Given the description of an element on the screen output the (x, y) to click on. 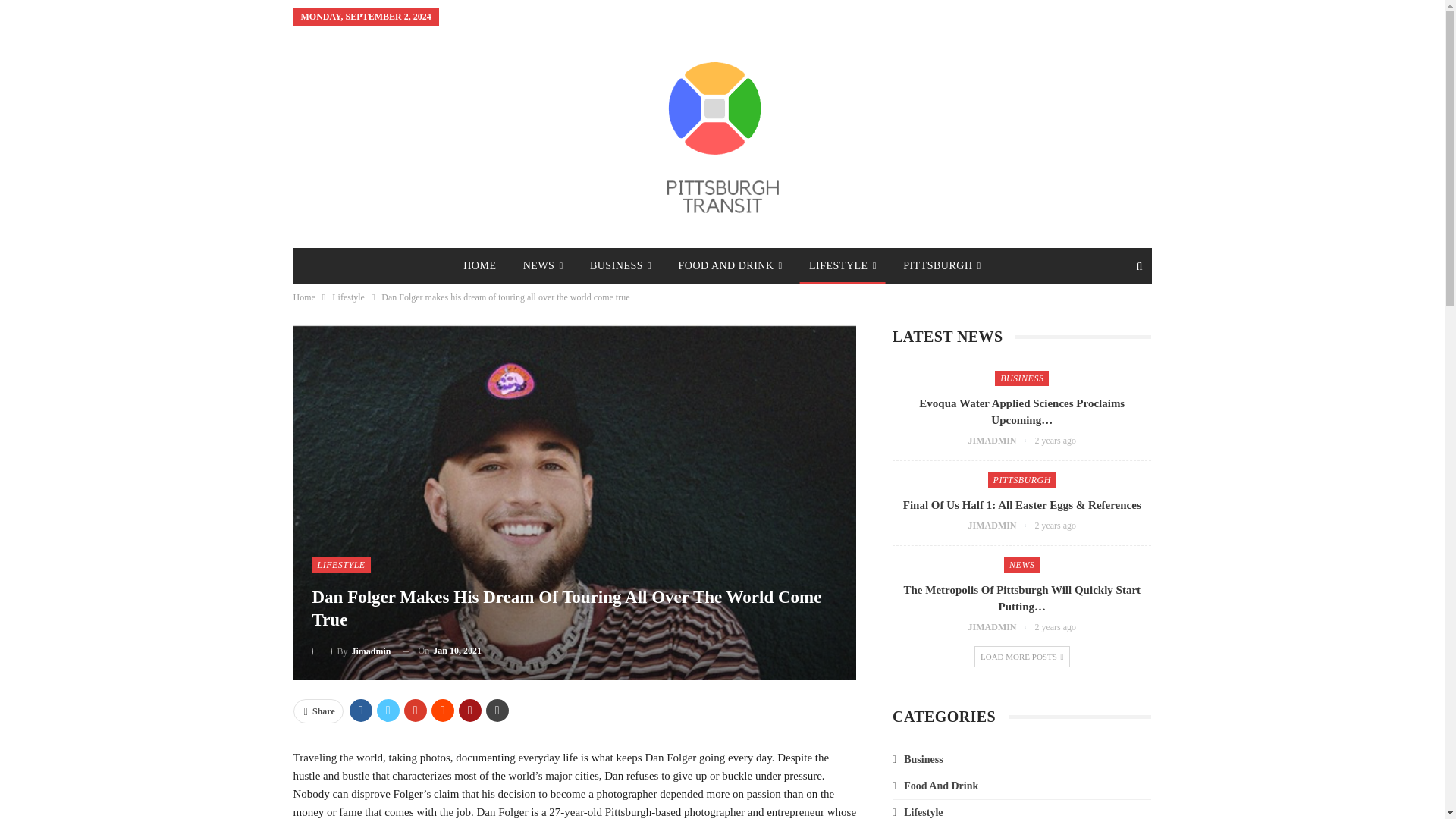
HOME (479, 265)
NEWS (542, 265)
BUSINESS (620, 265)
FOOD AND DRINK (730, 265)
